Given the description of an element on the screen output the (x, y) to click on. 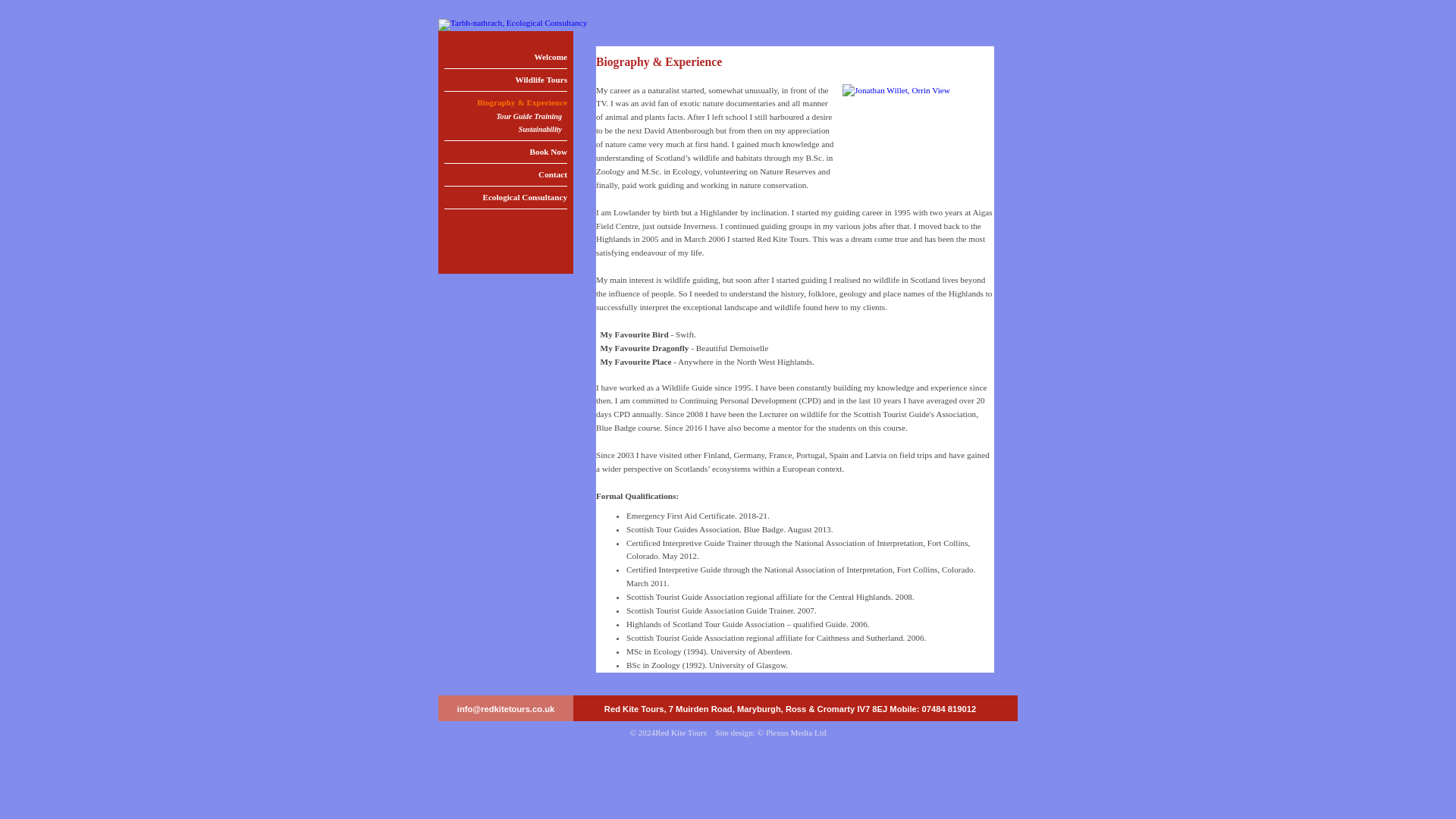
Welcome (505, 56)
website design (796, 732)
Contact (505, 174)
Plexus Media Ltd (796, 732)
Sustainability (505, 129)
Book Now (505, 151)
Tour Guide Training (505, 116)
Wildlife Tours (505, 79)
Ecological Consultancy (505, 197)
